Given the description of an element on the screen output the (x, y) to click on. 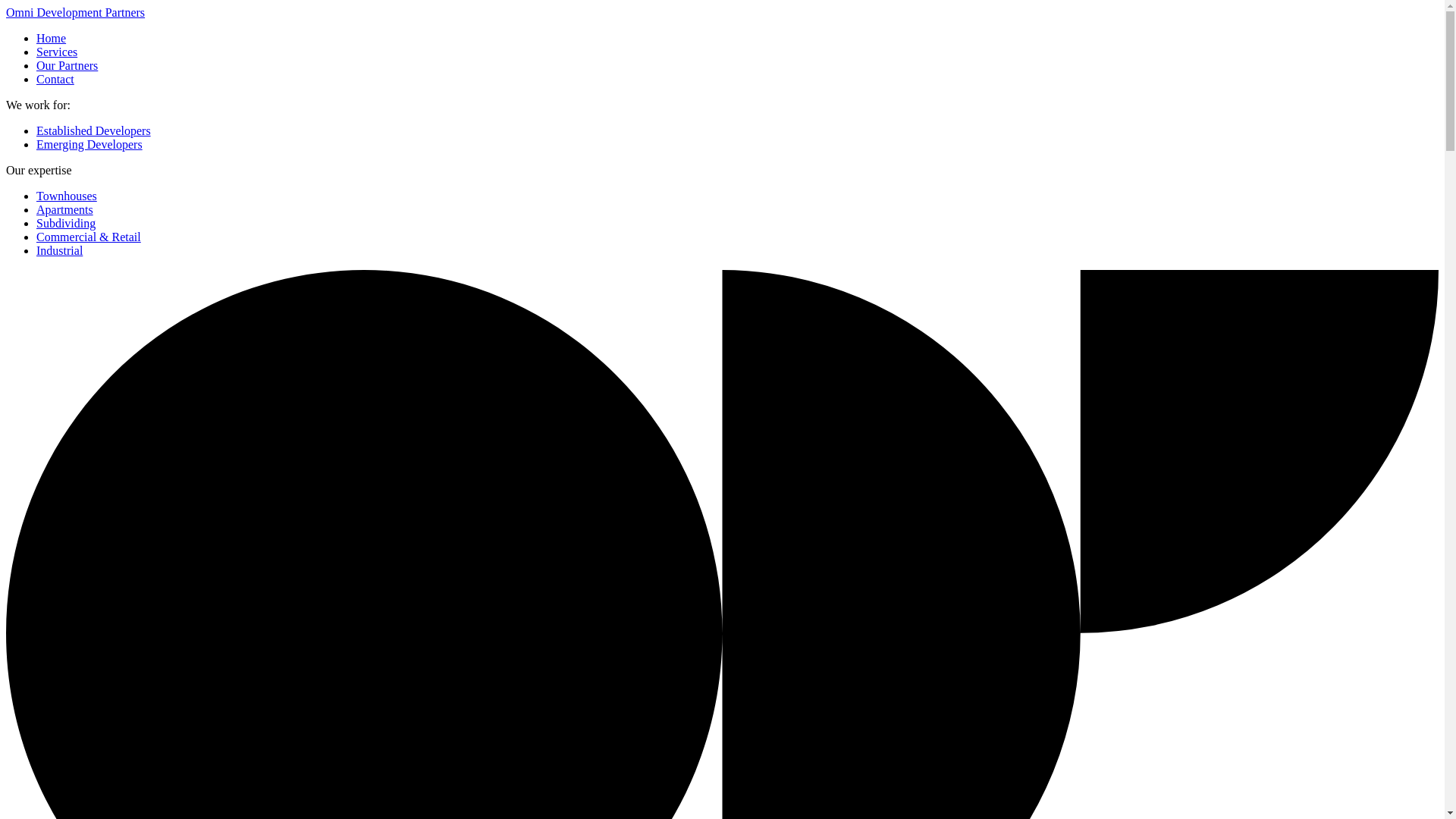
Subdividing (66, 223)
Our Partners (66, 65)
Services (56, 51)
Omni Development Partners (74, 11)
Home (50, 38)
Contact (55, 78)
Apartments (64, 209)
Industrial (59, 250)
Subdividing (66, 223)
Home (50, 38)
Contact (55, 78)
Services (56, 51)
Established Developers (93, 130)
Apartments (64, 209)
Emerging Developers (89, 144)
